Given the description of an element on the screen output the (x, y) to click on. 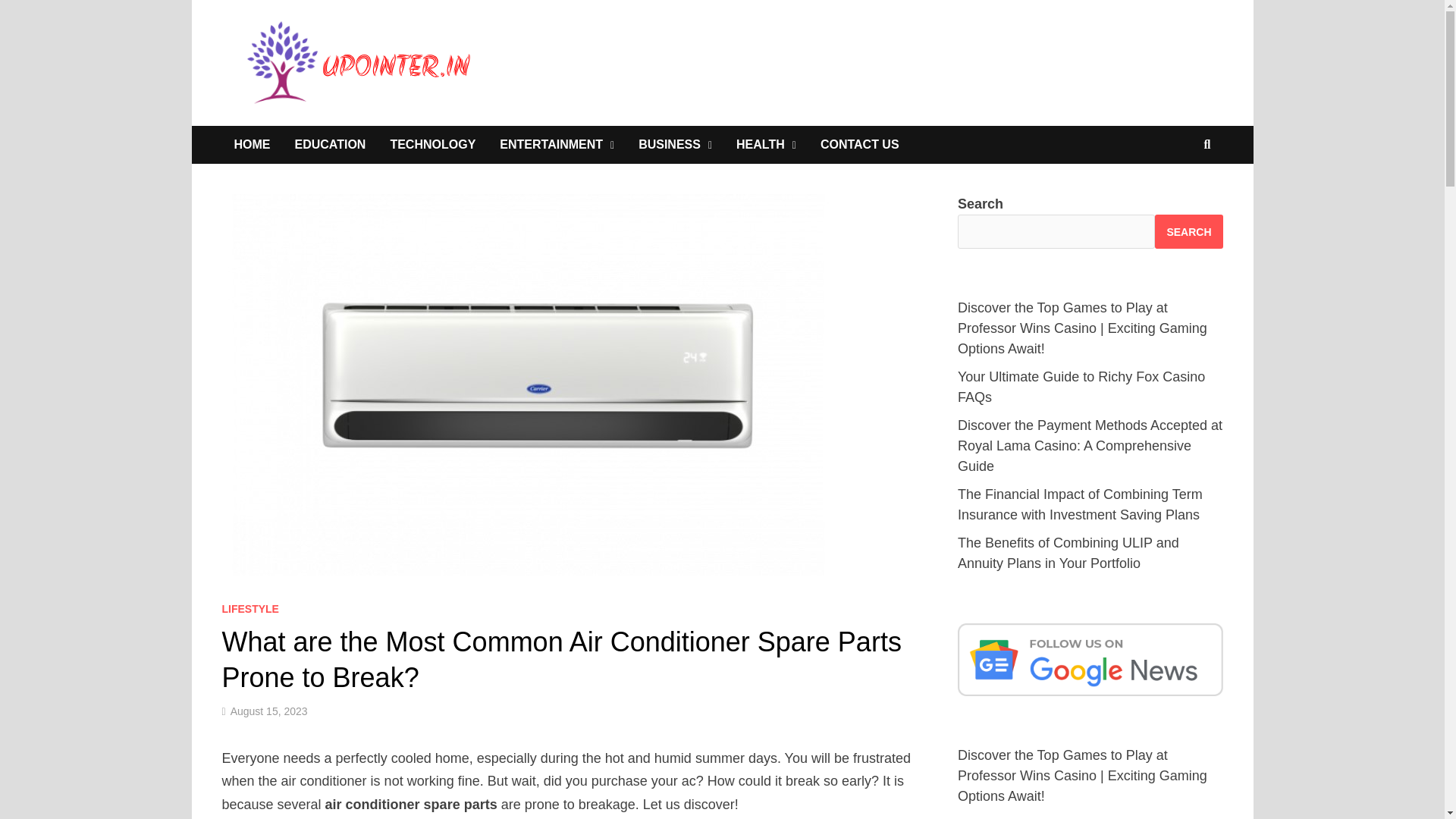
HOME (251, 144)
ENTERTAINMENT (556, 144)
August 15, 2023 (268, 711)
BUSINESS (674, 144)
HEALTH (765, 144)
TECHNOLOGY (432, 144)
CONTACT US (859, 144)
EDUCATION (329, 144)
LIFESTYLE (249, 608)
